Given the description of an element on the screen output the (x, y) to click on. 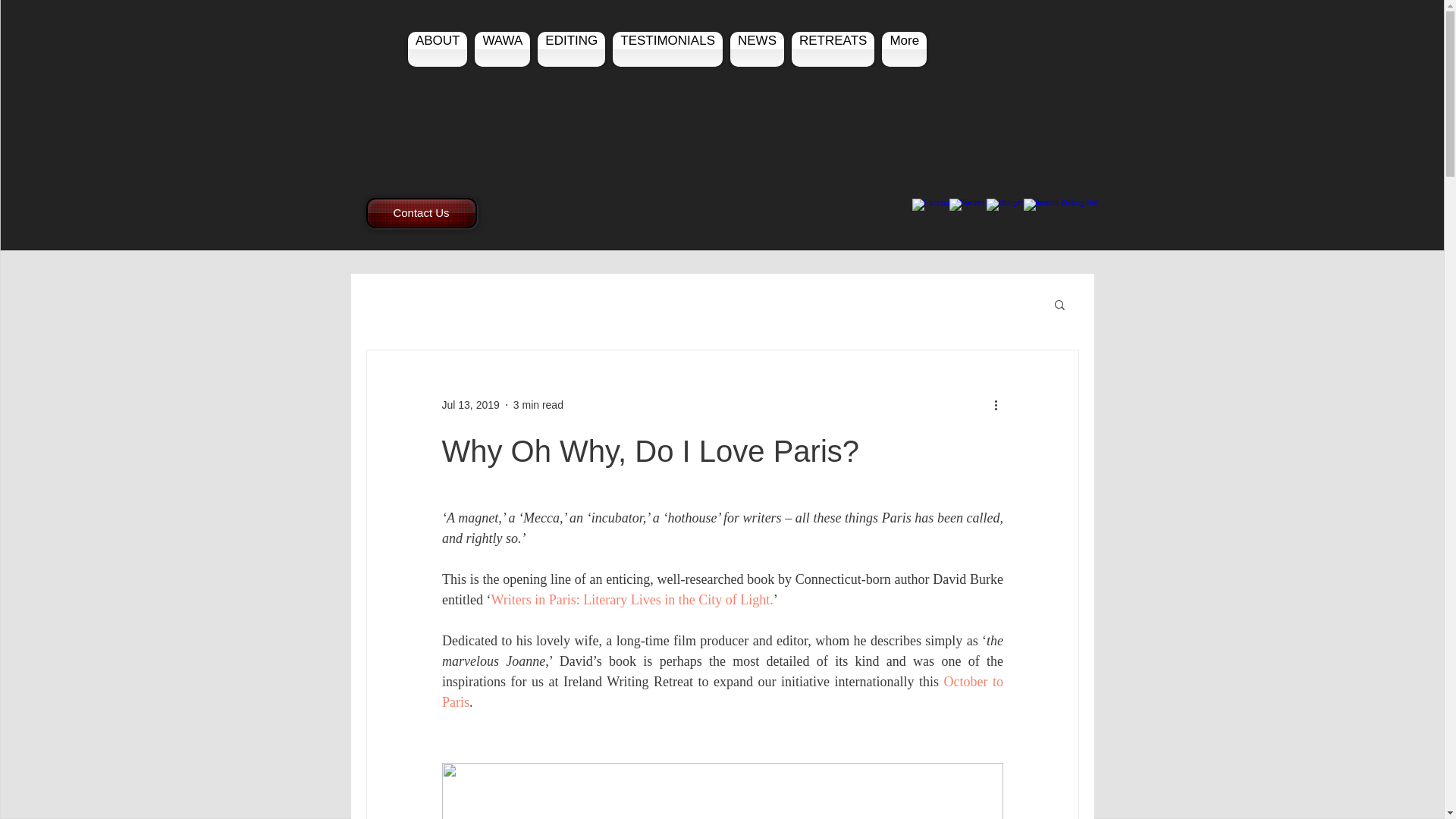
3 min read (538, 404)
Jul 13, 2019 (470, 404)
RETREATS (832, 48)
TESTIMONIALS (667, 48)
Writers in Paris: Literary Lives in the City of Light. (631, 599)
Share (1005, 221)
WAWA (502, 48)
NEWS (756, 48)
Contact Us (420, 213)
ABOUT (437, 48)
EDITING (571, 48)
Share (1005, 221)
October to Paris (723, 692)
